Given the description of an element on the screen output the (x, y) to click on. 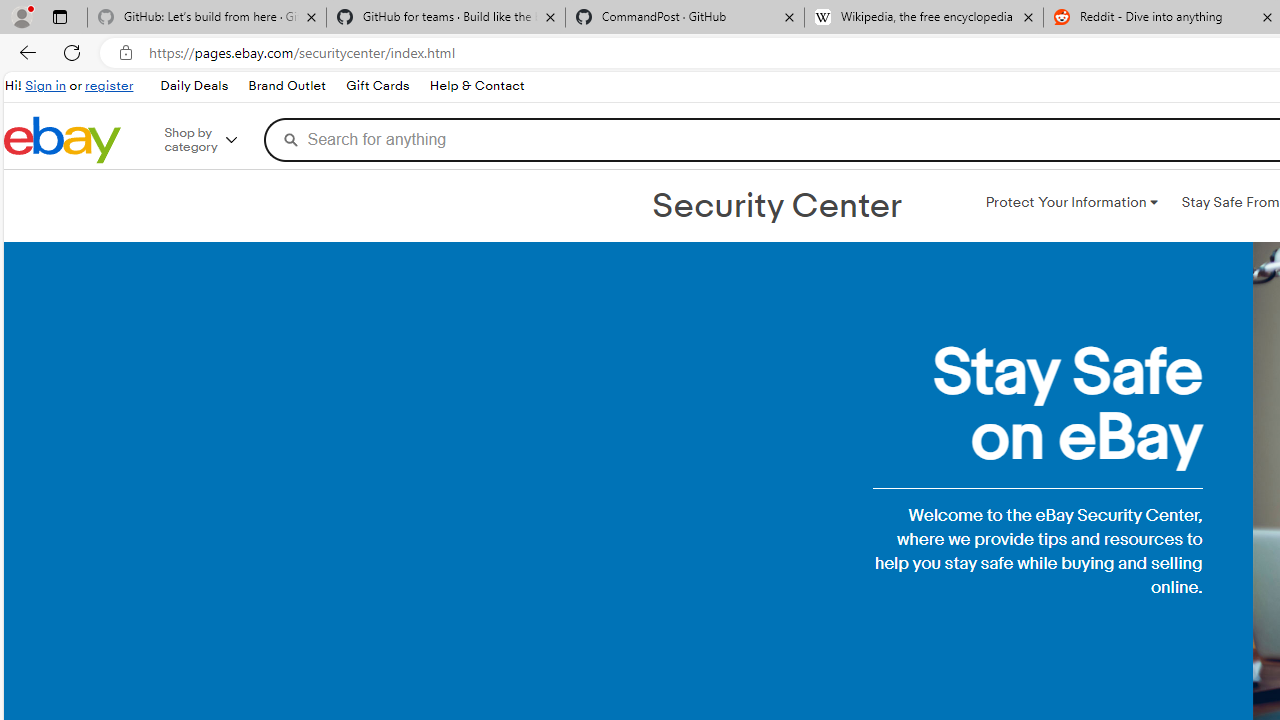
Wikipedia, the free encyclopedia (924, 17)
Gift Cards (377, 86)
eBay Home (62, 139)
Protect Your Information  (1071, 202)
eBay Home (62, 139)
Brand Outlet (285, 85)
register (109, 85)
Sign in (45, 85)
Security Center (776, 206)
Shop by category (213, 140)
Daily Deals (194, 86)
Gift Cards (376, 85)
